Given the description of an element on the screen output the (x, y) to click on. 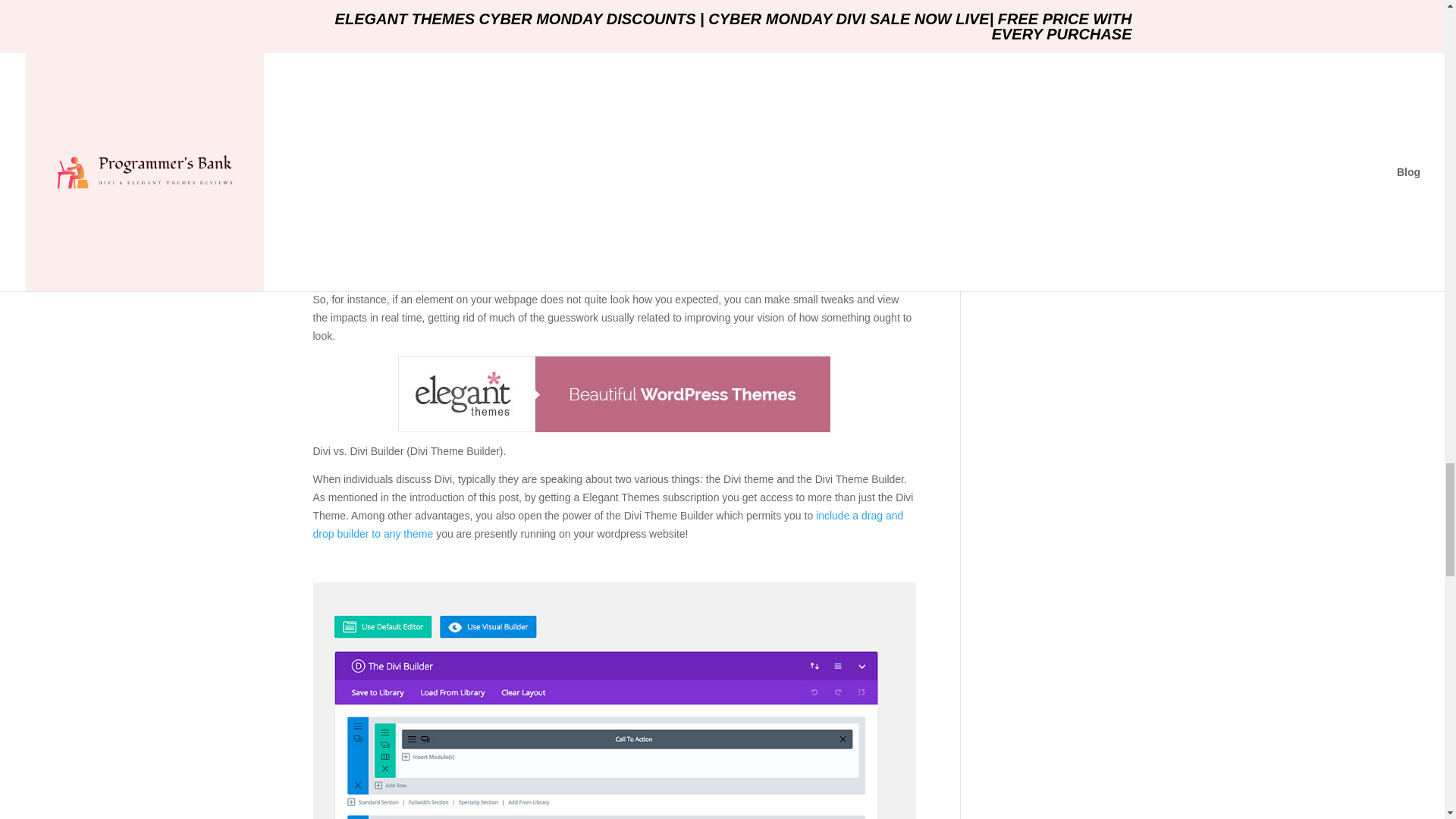
membership (436, 46)
include a drag and drop builder to any theme (607, 524)
